Given the description of an element on the screen output the (x, y) to click on. 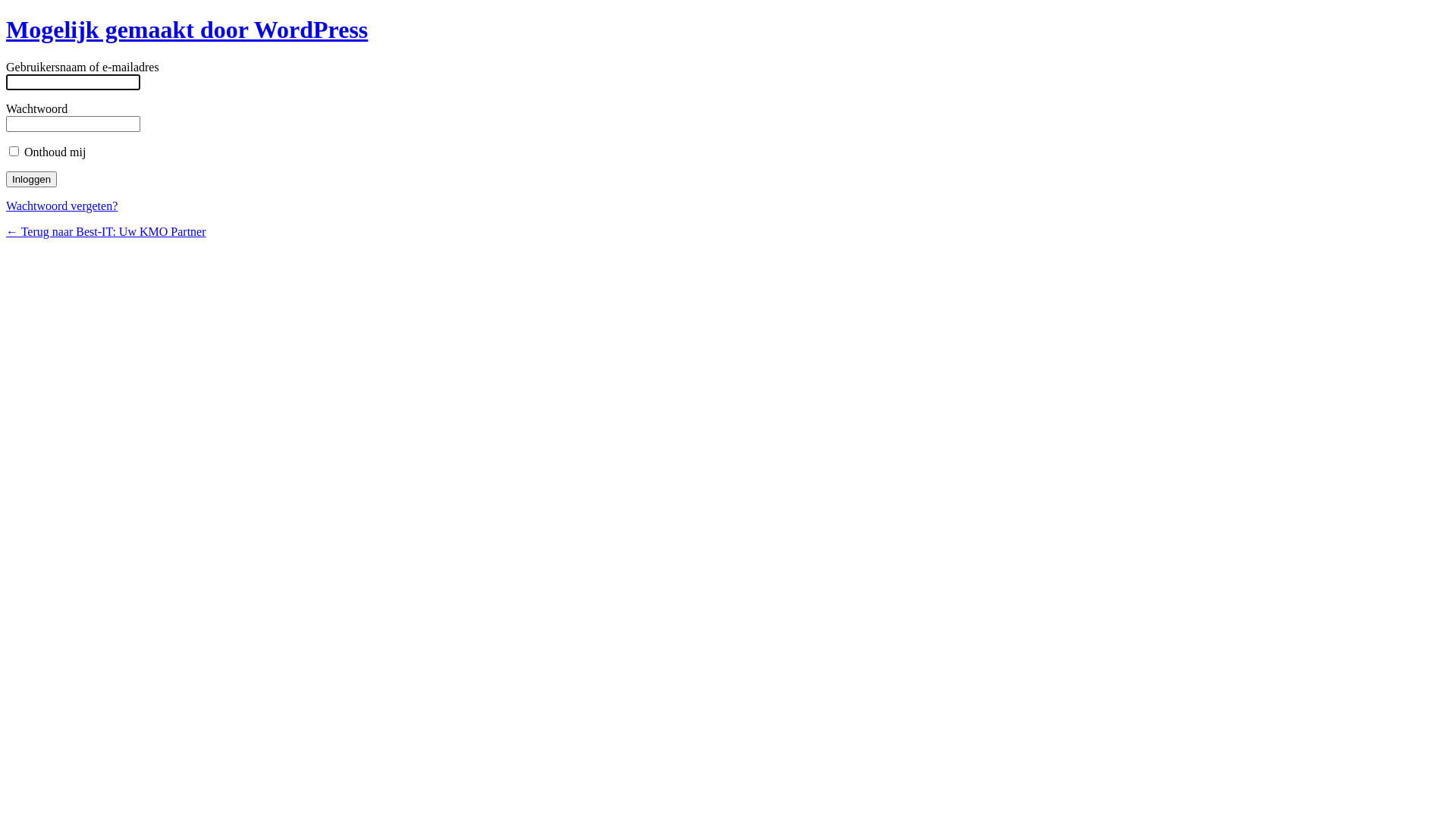
Wachtwoord vergeten? Element type: text (61, 205)
Inloggen Element type: text (31, 179)
Mogelijk gemaakt door WordPress Element type: text (186, 29)
